Given the description of an element on the screen output the (x, y) to click on. 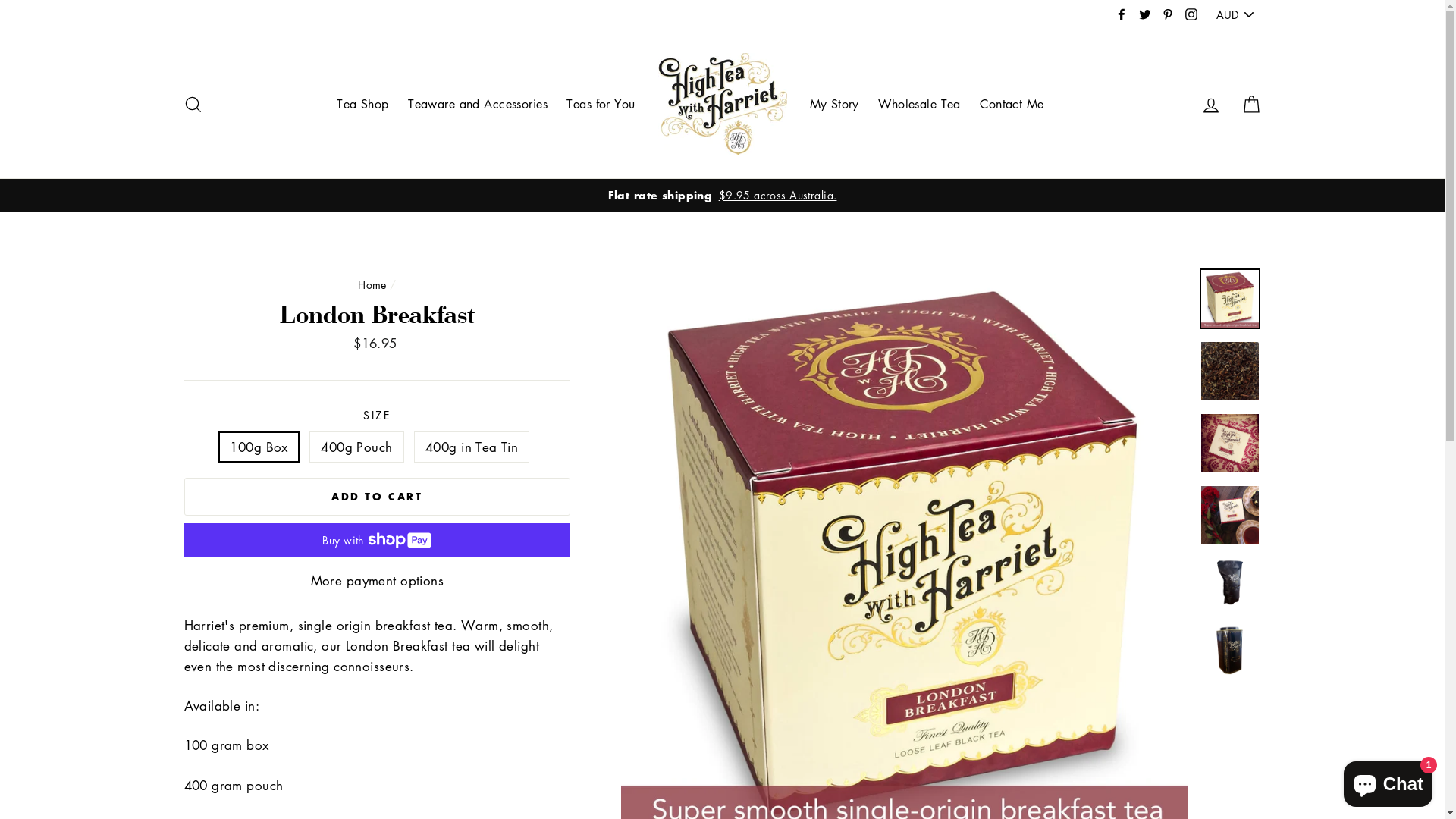
Instagram Element type: text (1191, 14)
Teaware and Accessories Element type: text (477, 103)
ADD TO CART Element type: text (376, 496)
Home Element type: text (371, 283)
Shopify online store chat Element type: hover (1388, 780)
Twitter Element type: text (1144, 14)
Cart Element type: text (1251, 103)
Flat rate shipping $9.95 across Australia. Element type: text (722, 194)
Wholesale Tea Element type: text (919, 103)
Pinterest Element type: text (1167, 14)
Log in Element type: text (1210, 103)
Teas for You Element type: text (600, 103)
Contact Me Element type: text (1011, 103)
My Story Element type: text (834, 103)
Tea Shop Element type: text (362, 103)
More payment options Element type: text (376, 580)
Skip to content Element type: text (0, 0)
Search Element type: text (192, 103)
Facebook Element type: text (1121, 14)
